Given the description of an element on the screen output the (x, y) to click on. 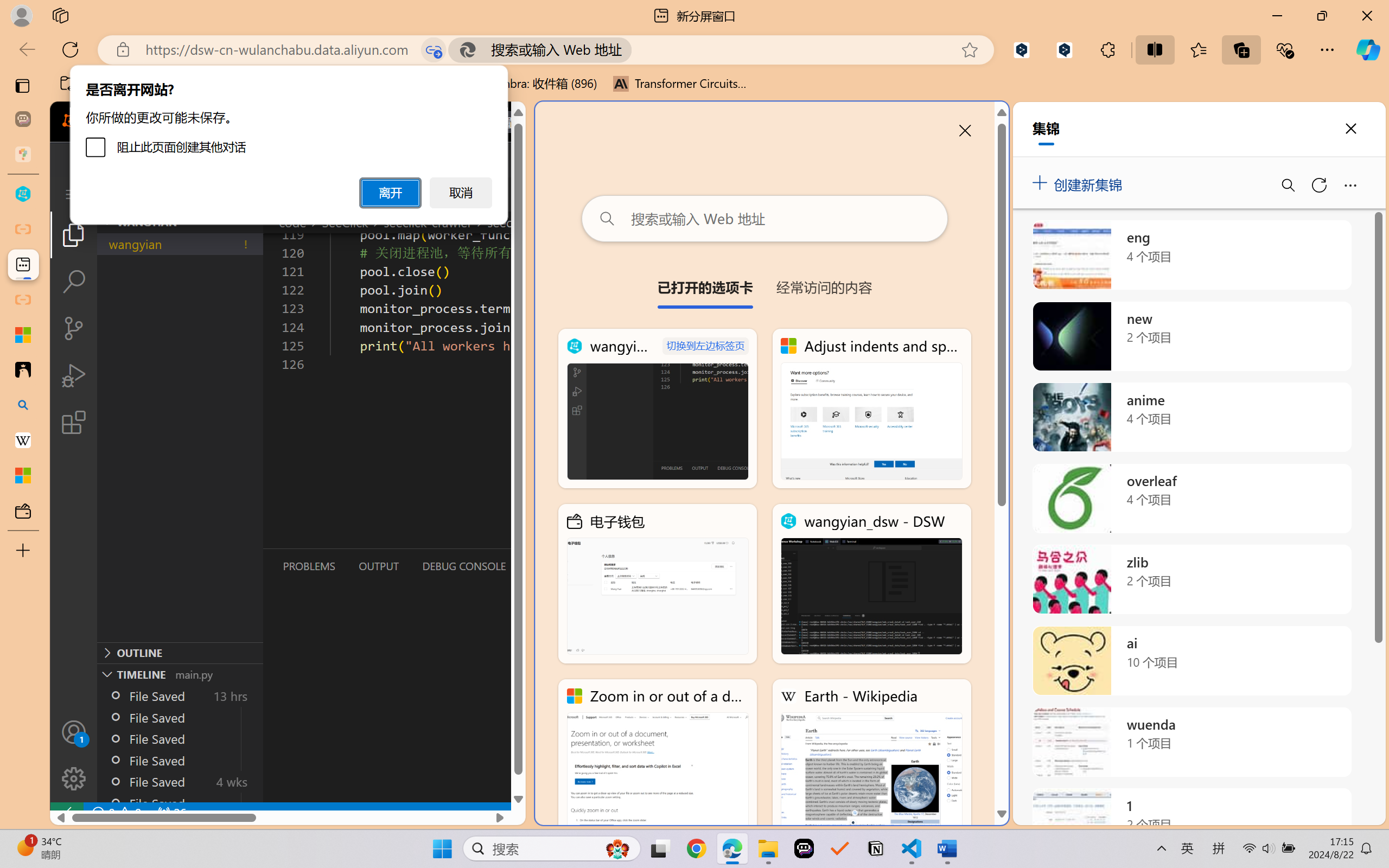
Quick Access Toolbar (79, 10)
Zoom Out (1294, 837)
Clear Formatting (312, 52)
Line Arrow (550, 48)
Arc (539, 72)
Decrease Indent (380, 52)
Text Box (518, 48)
System (6, 6)
Shadow (212, 71)
Share (1358, 29)
Rectangle (562, 48)
New Slide (105, 51)
Isosceles Triangle (528, 60)
Font... (319, 91)
